Given the description of an element on the screen output the (x, y) to click on. 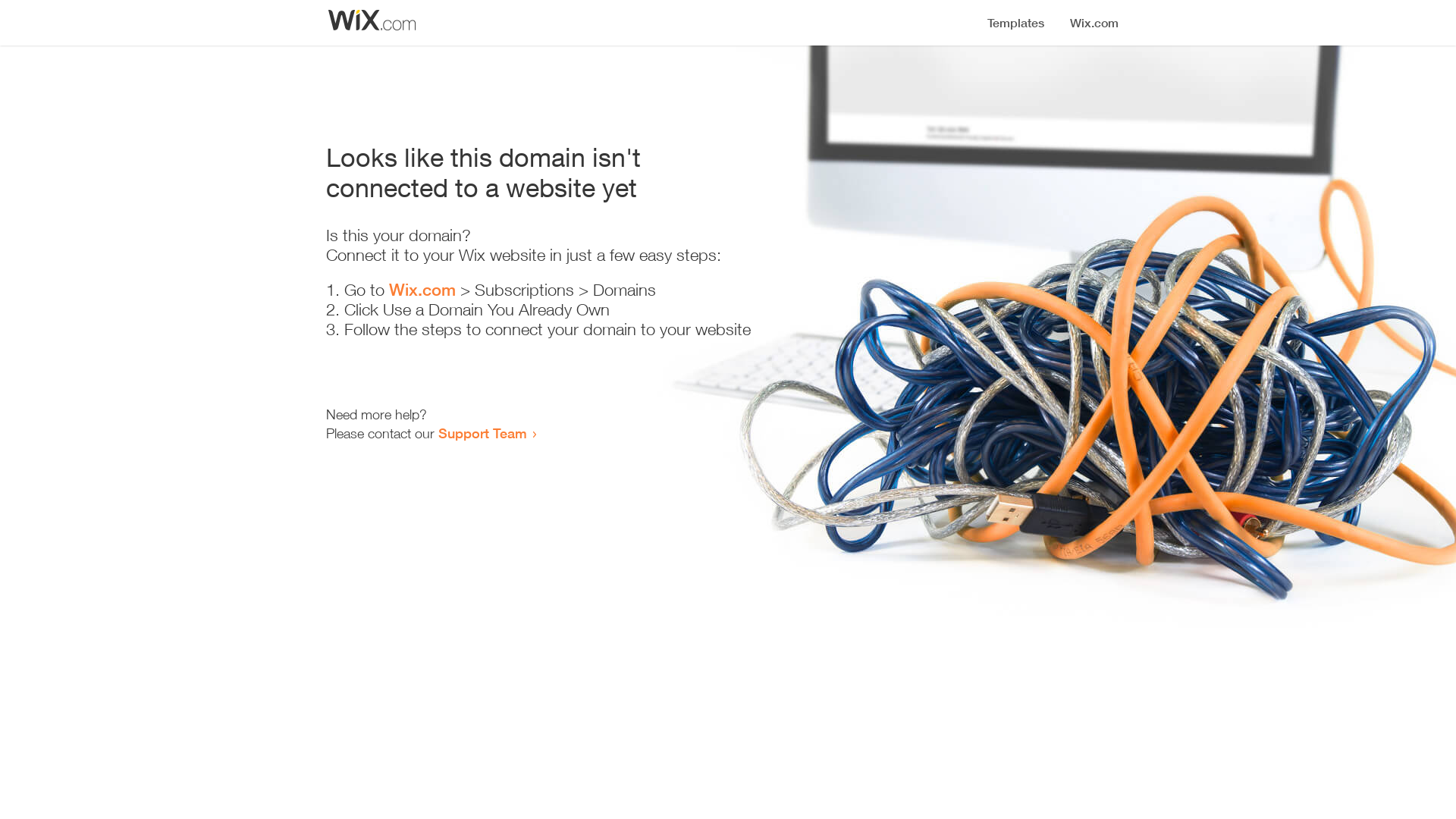
Support Team Element type: text (482, 432)
Wix.com Element type: text (422, 289)
